Given the description of an element on the screen output the (x, y) to click on. 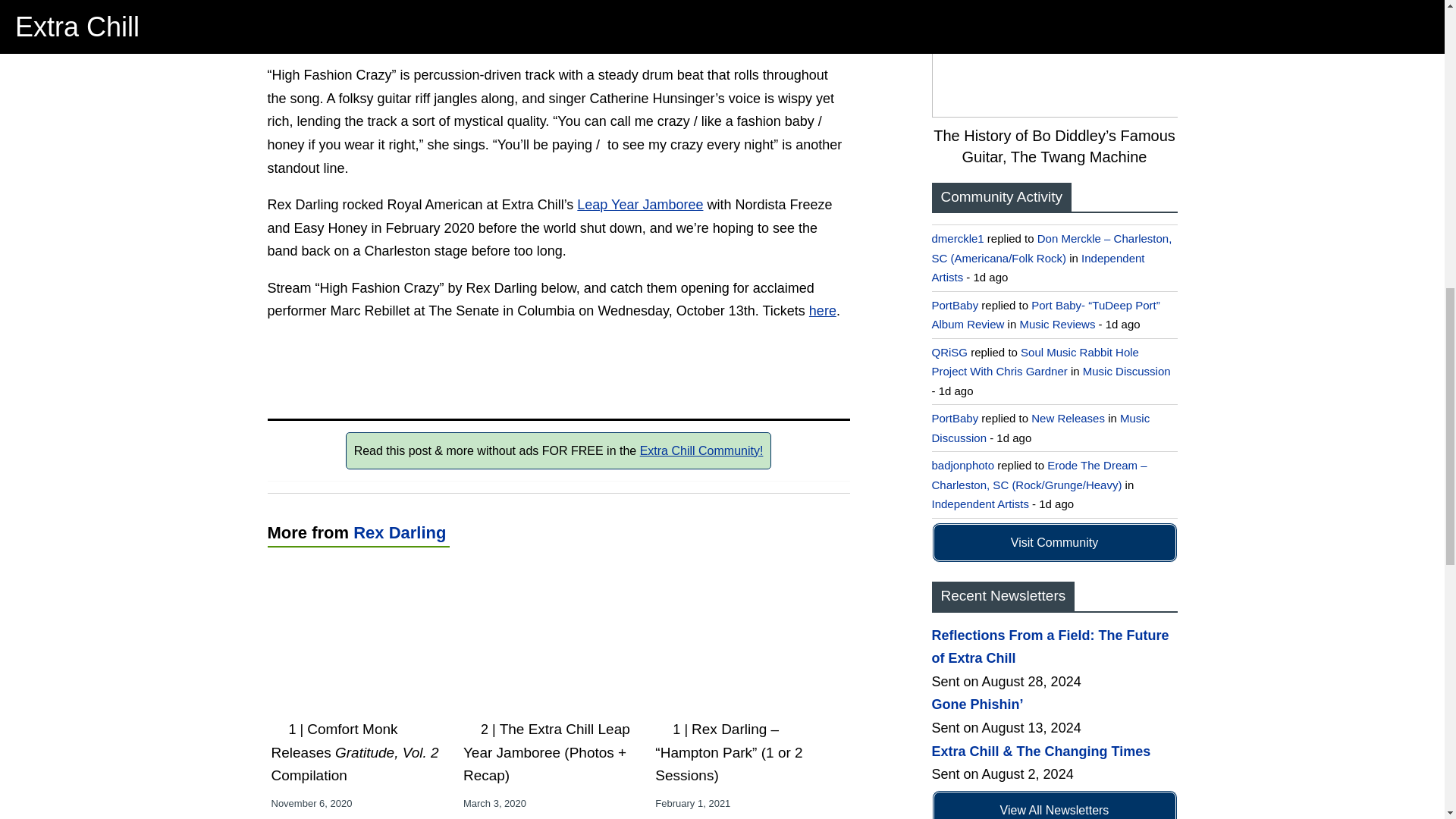
Extra Chill Community! (701, 450)
Comfort Monk Releases Gratitude, Vol. 2 Compilation (354, 751)
Comfort Monk Releases Gratitude, Vol. 2 Compilation (354, 751)
Leap Year Jamboree (639, 204)
Spotify Embed: High Fashion Crazy (557, 366)
here (822, 310)
Rex Darling (399, 532)
